Given the description of an element on the screen output the (x, y) to click on. 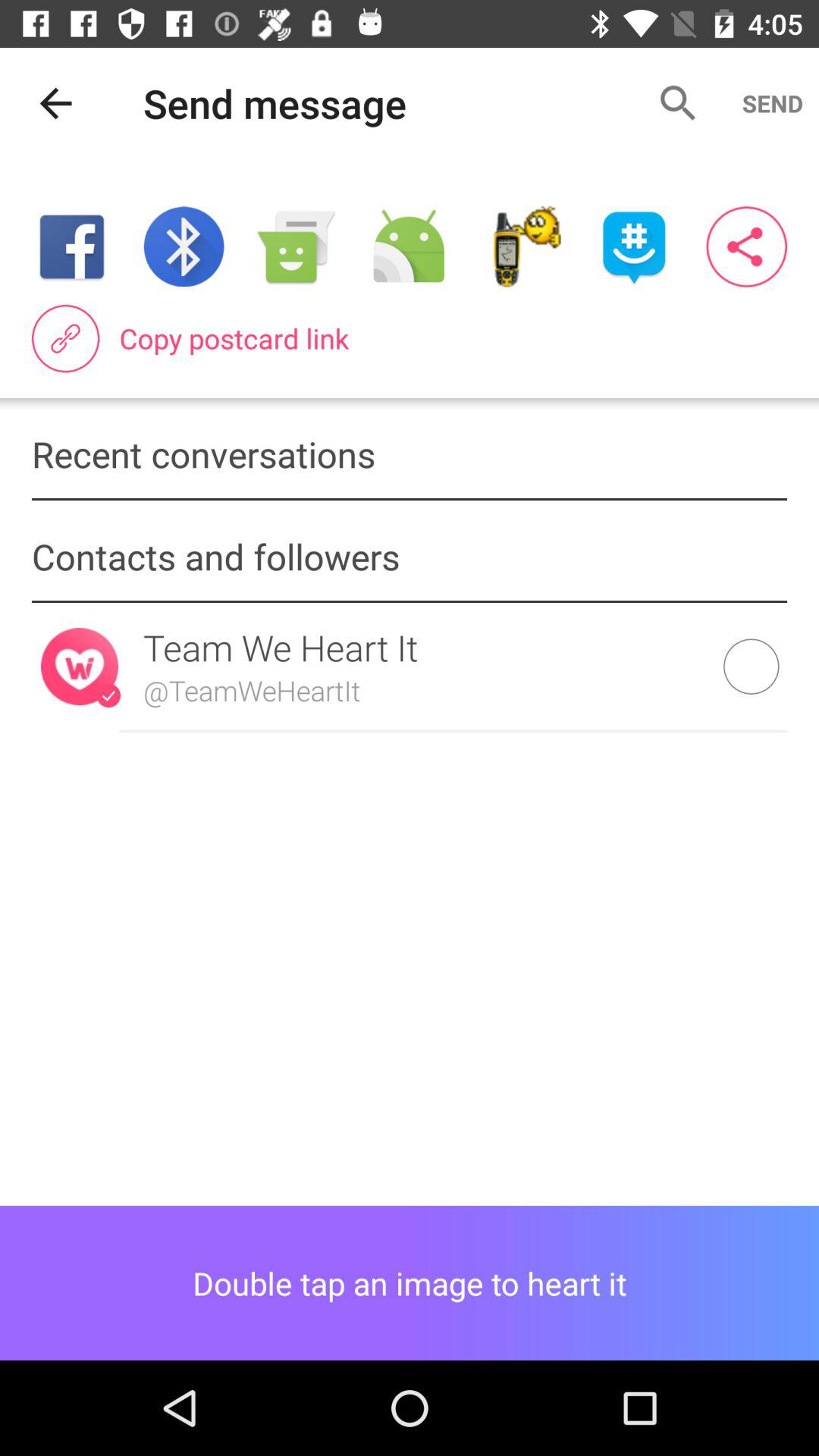
share content (408, 246)
